Given the description of an element on the screen output the (x, y) to click on. 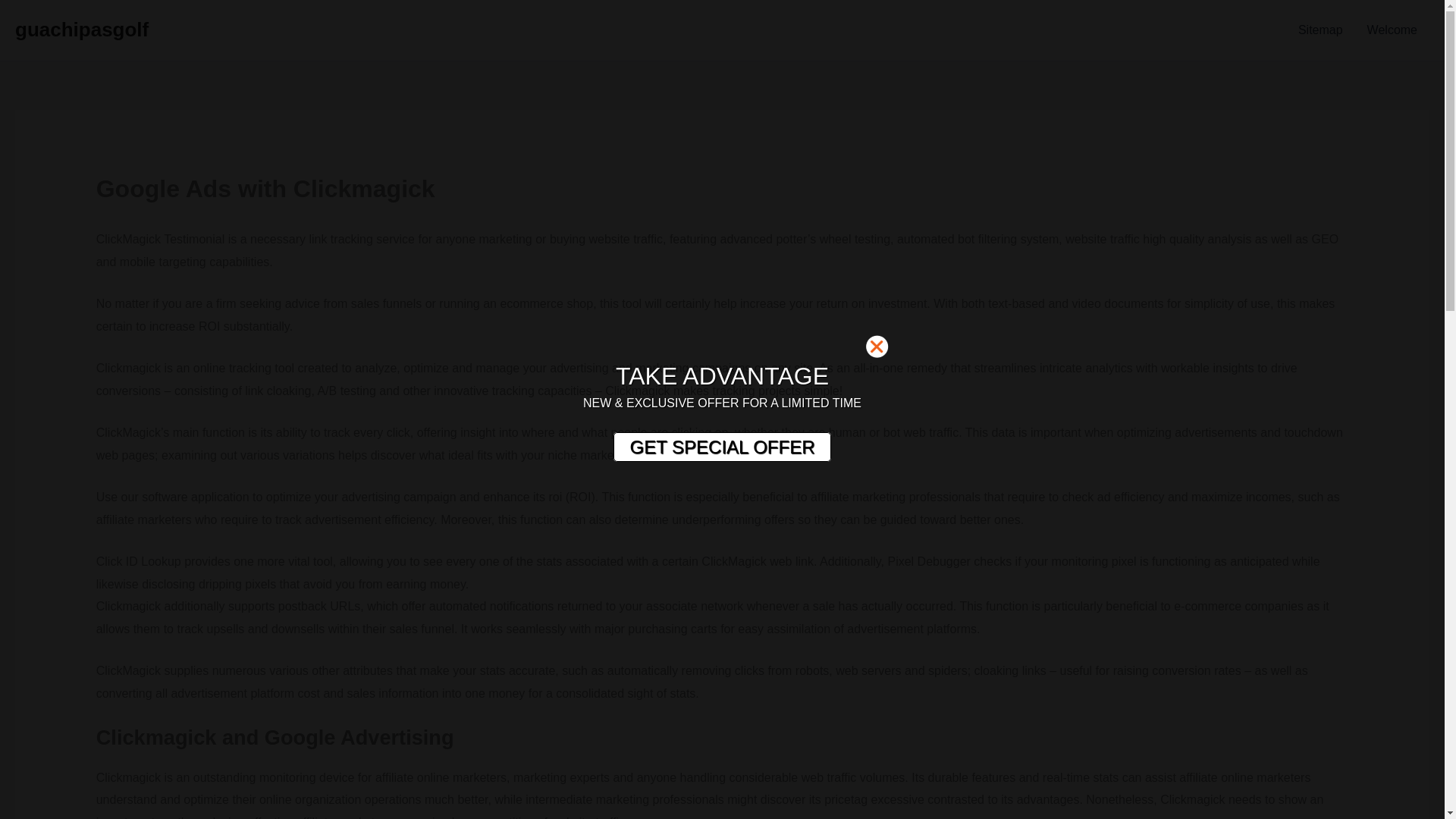
Sitemap (1320, 30)
Welcome (1392, 30)
GET SPECIAL OFFER (720, 446)
guachipasgolf (81, 29)
